Given the description of an element on the screen output the (x, y) to click on. 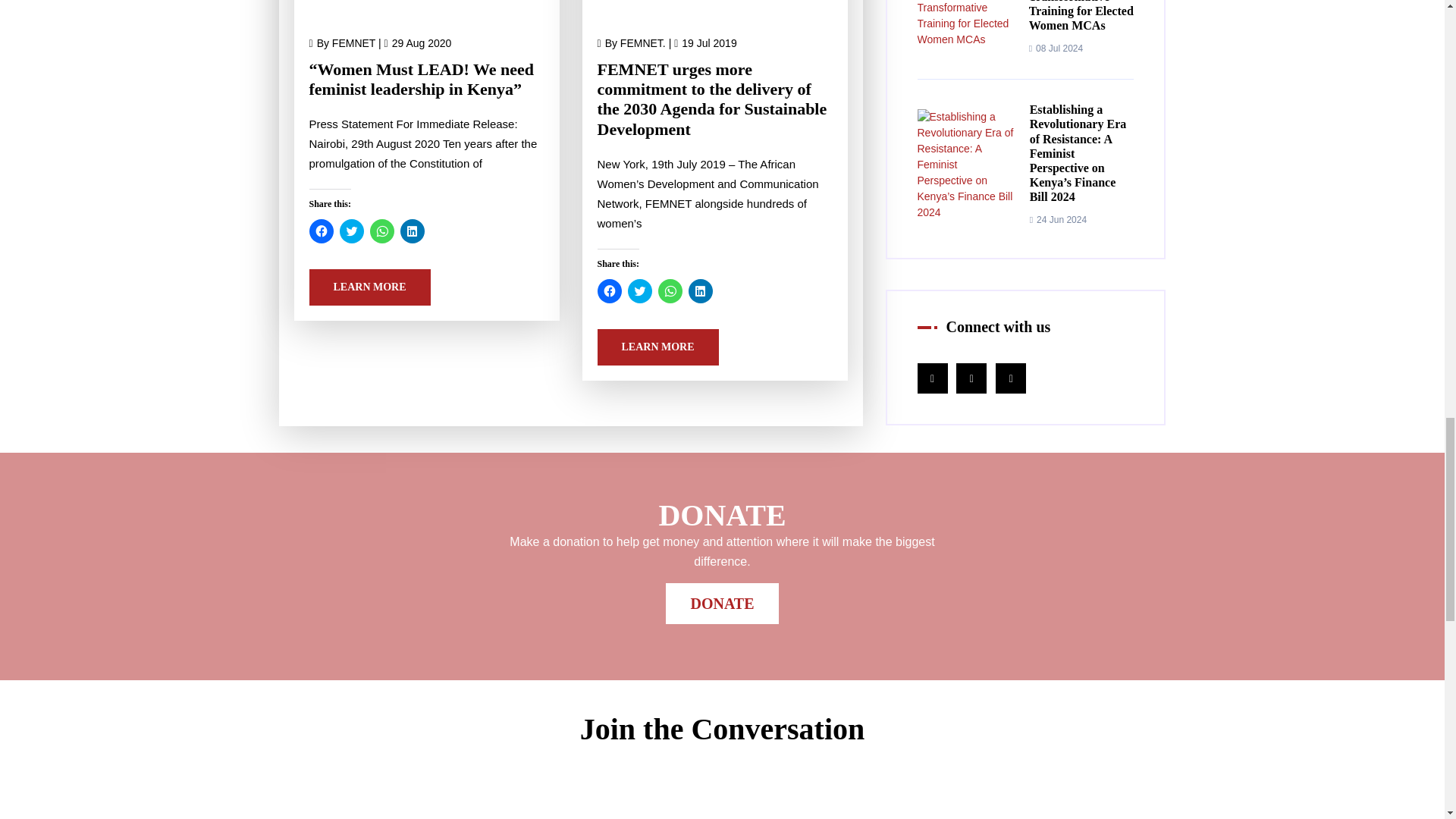
LEARN MORE (369, 287)
